Given the description of an element on the screen output the (x, y) to click on. 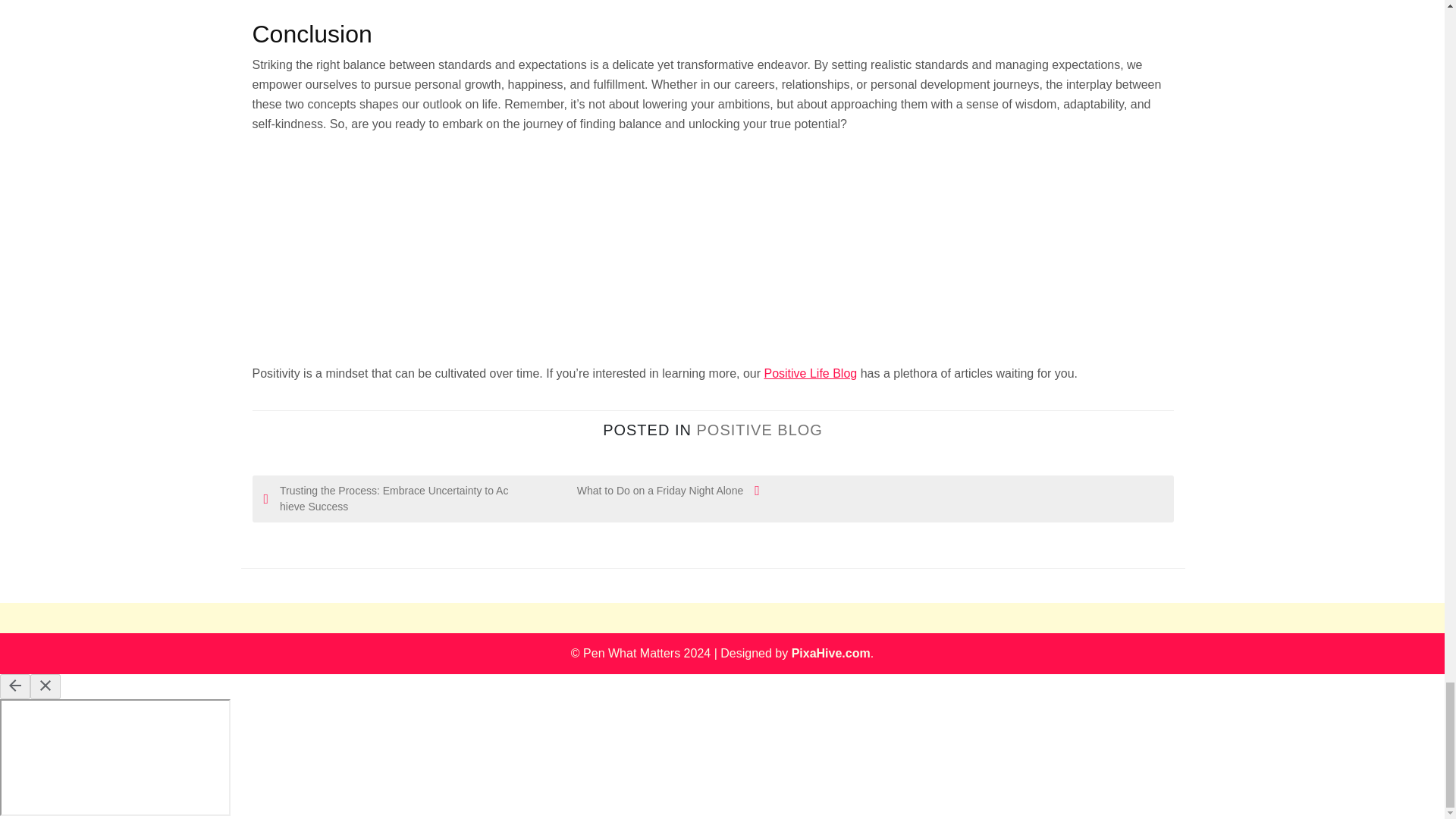
Positive Life Blog (809, 373)
PixaHive.com (831, 653)
POSITIVE BLOG (758, 429)
Trusting the Process: Embrace Uncertainty to Achieve Success (387, 499)
What to Do on a Friday Night Alone (636, 490)
